Given the description of an element on the screen output the (x, y) to click on. 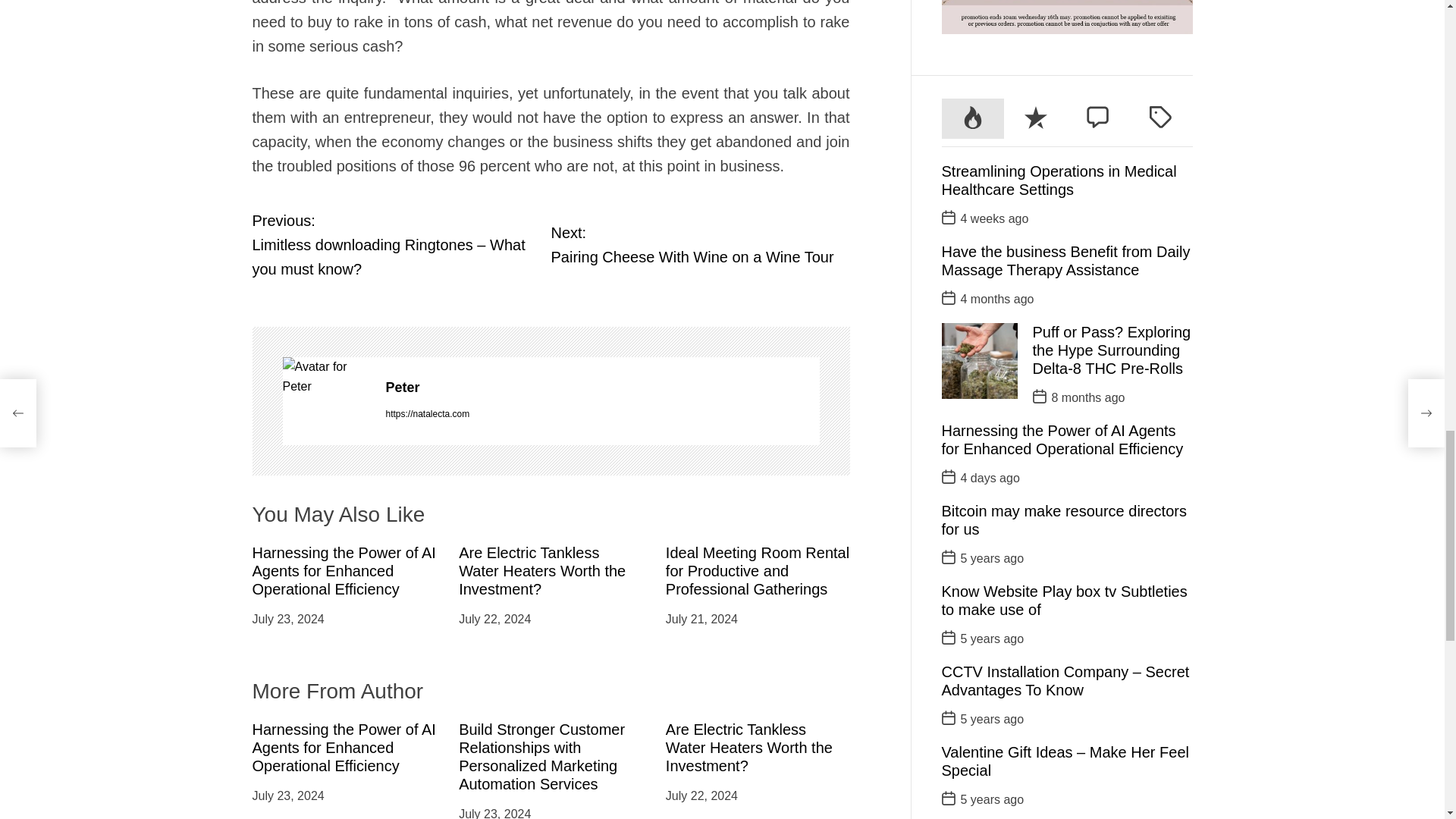
Peter (325, 376)
Are Electric Tankless Water Heaters Worth the Investment? (542, 570)
Peter (601, 387)
Peter (601, 387)
Are Electric Tankless Water Heaters Worth the Investment? (748, 747)
